Given the description of an element on the screen output the (x, y) to click on. 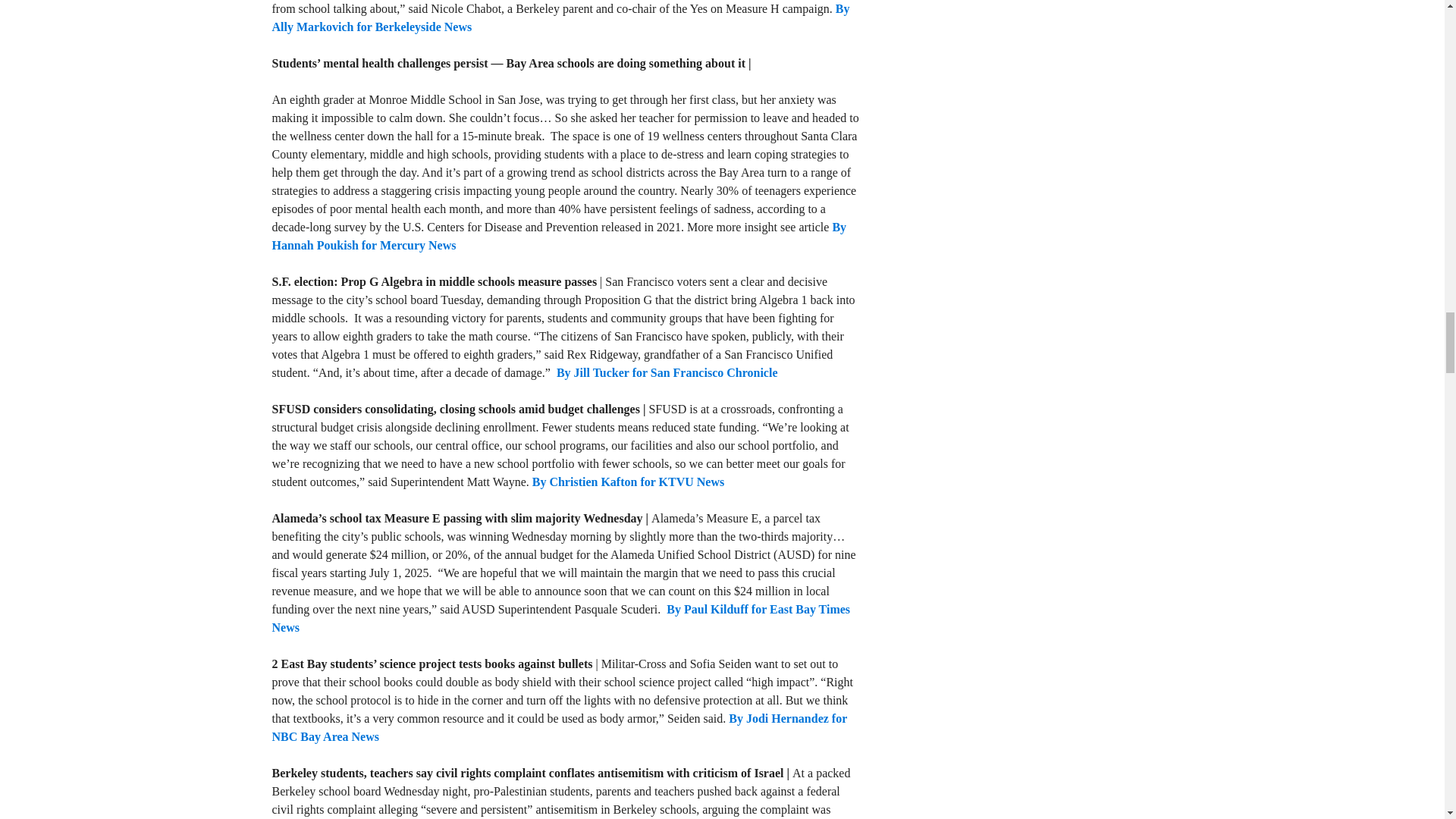
By Jodi Hernandez for NBC Bay Area News (557, 726)
By Ally Markovich for Berkeleyside News (559, 17)
By Christien Kafton for KTVU News (627, 481)
By Jill Tucker for San Francisco Chronicle (666, 372)
By Paul Kilduff for East Bay Times News (560, 617)
By Hannah Poukish for Mercury News (557, 235)
